Given the description of an element on the screen output the (x, y) to click on. 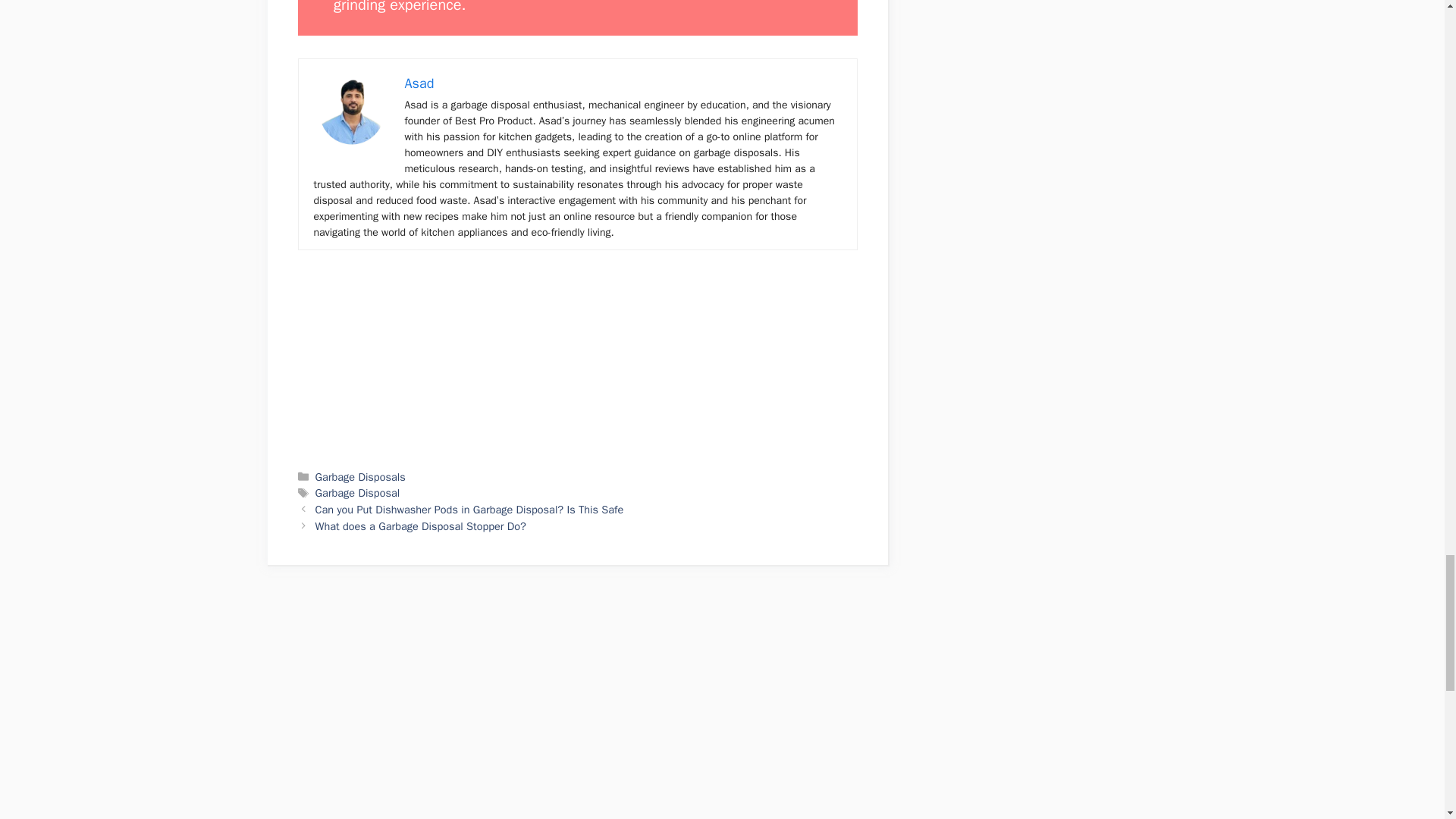
Garbage Disposals (360, 477)
What does a Garbage Disposal Stopper Do? (420, 526)
Asad (418, 83)
Garbage Disposal (357, 492)
